Given the description of an element on the screen output the (x, y) to click on. 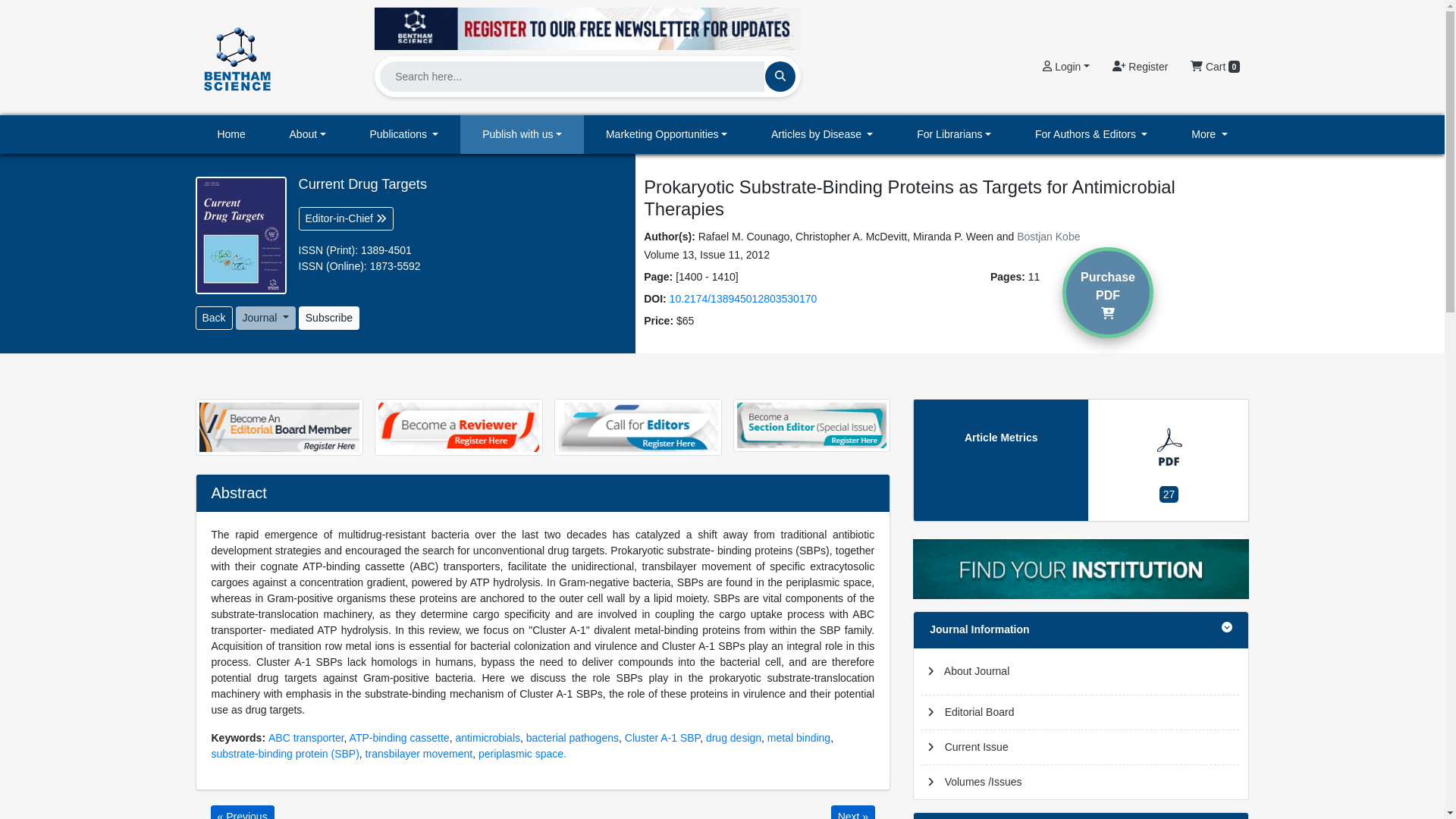
Publications (404, 134)
Register (1139, 67)
newsletter banner (587, 24)
About (307, 134)
Login (1065, 67)
Home (231, 134)
Cart 0 (1214, 67)
Search Button (779, 76)
newsletter banner (587, 28)
